Given the description of an element on the screen output the (x, y) to click on. 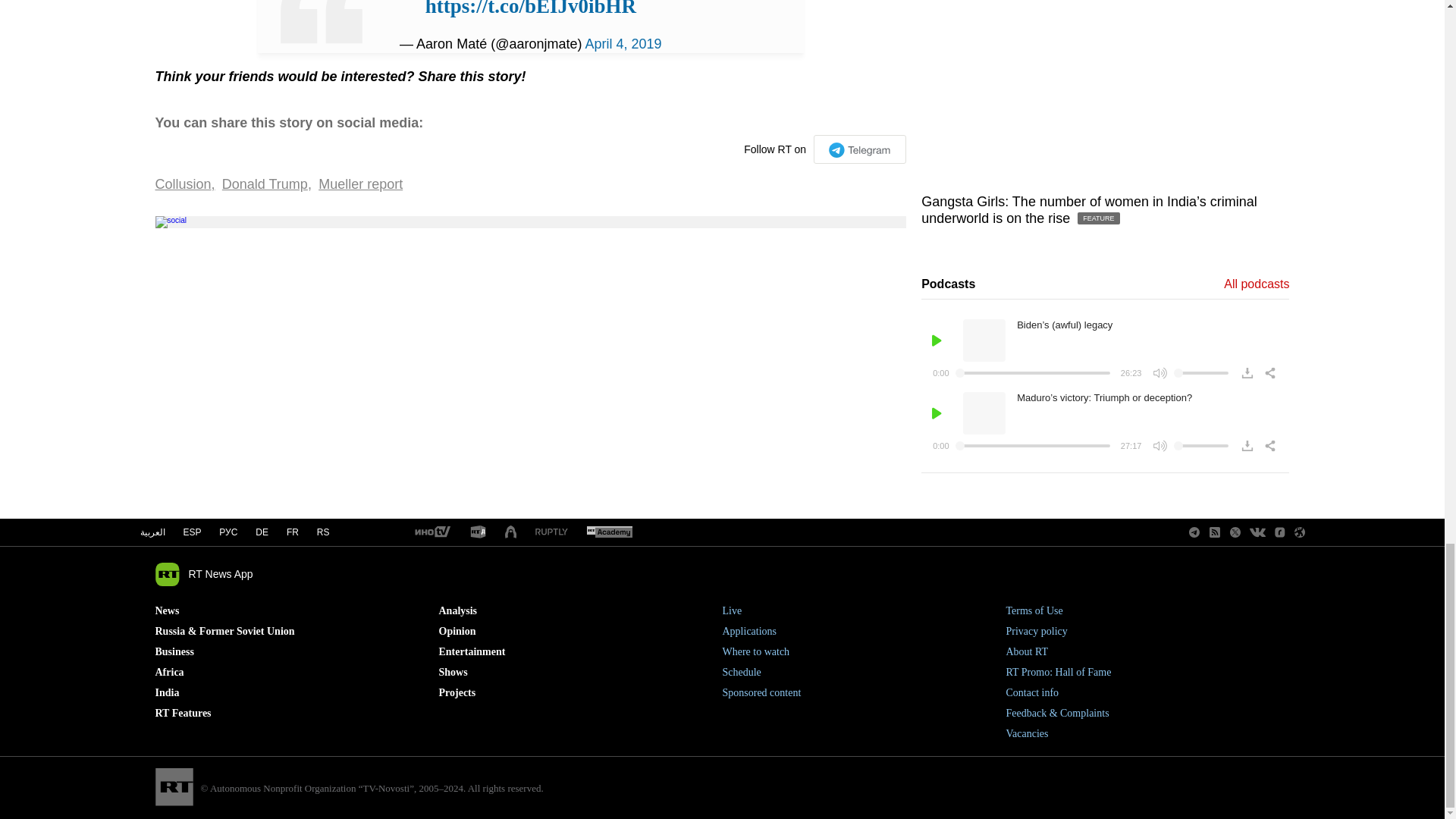
RT  (608, 532)
RT  (478, 532)
RT  (431, 532)
RT  (551, 532)
